Given the description of an element on the screen output the (x, y) to click on. 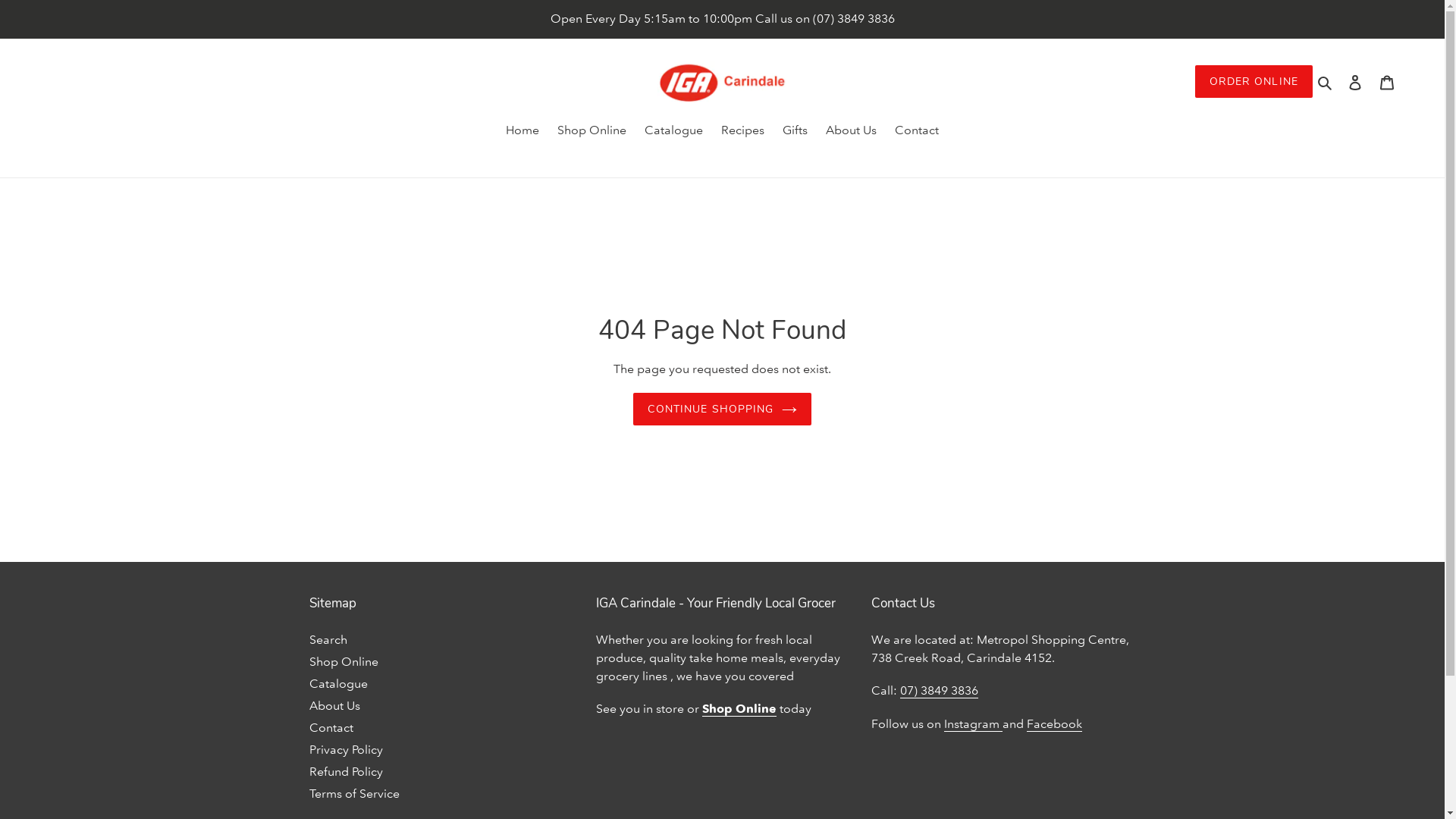
Refund Policy Element type: text (345, 770)
07) 3849 3836 Element type: text (939, 690)
Catalogue Element type: text (338, 682)
Shop Online Element type: text (343, 660)
Gifts Element type: text (795, 131)
Recipes Element type: text (742, 131)
Catalogue Element type: text (673, 131)
Instagram Element type: text (973, 723)
Search Element type: text (1325, 81)
CONTINUE SHOPPING Element type: text (721, 408)
Shop Online Element type: text (591, 131)
ORDER ONLINE Element type: text (1253, 81)
Shop Online Element type: text (739, 708)
Privacy Policy Element type: text (345, 748)
About Us Element type: text (334, 704)
Home Element type: text (522, 131)
Contact Element type: text (916, 131)
Facebook Element type: text (1054, 723)
Terms of Service Element type: text (354, 792)
About Us Element type: text (851, 131)
Search Element type: text (328, 638)
Contact Element type: text (331, 726)
Log in Element type: text (1355, 81)
Cart Element type: text (1386, 81)
